Given the description of an element on the screen output the (x, y) to click on. 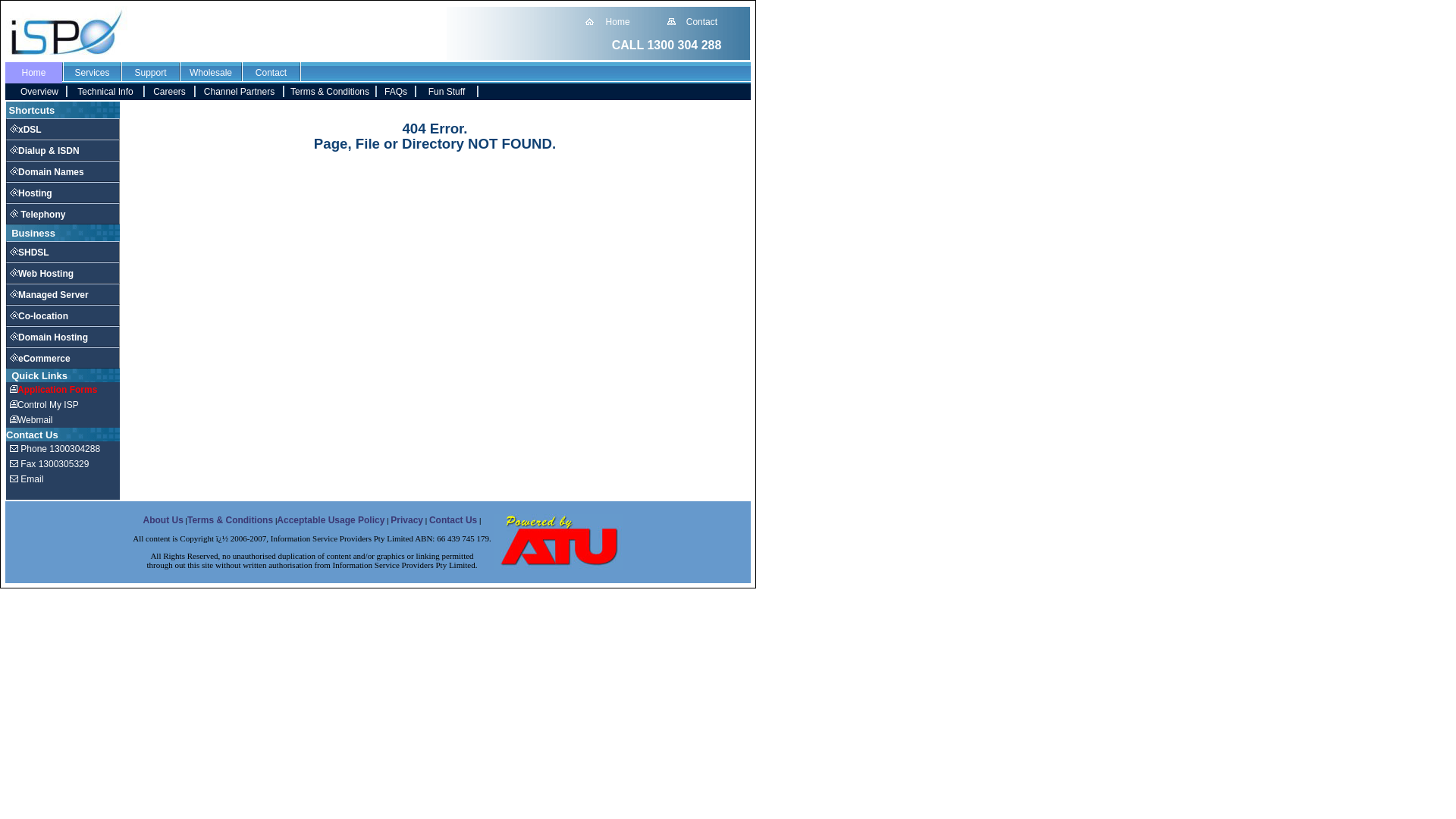
 Phone 1300304288 Element type: text (54, 448)
FAQs Element type: text (395, 91)
Web Hosting Element type: text (41, 273)
Technical Info Element type: text (104, 91)
Home Element type: text (33, 72)
Domain Names Element type: text (46, 171)
Wholesale Element type: text (210, 72)
Control My ISP Element type: text (43, 404)
Domain Hosting Element type: text (48, 337)
Services Element type: text (91, 72)
Contact Element type: text (701, 21)
Channel Partners Element type: text (238, 91)
 Email Element type: text (26, 478)
Privacy Element type: text (406, 519)
Overview Element type: text (39, 91)
Fun Stuff Element type: text (446, 91)
Telephony Element type: text (37, 214)
Home Element type: text (617, 21)
Terms & Conditions Element type: text (329, 91)
Dialup & ISDN Element type: text (44, 150)
eCommerce Element type: text (39, 358)
Acceptable Usage Policy Element type: text (330, 519)
Support Element type: text (150, 72)
 Fax 1300305329 Element type: text (48, 463)
Careers Element type: text (169, 91)
Managed Server Element type: text (48, 294)
Hosting Element type: text (30, 193)
xDSL Element type: text (25, 129)
SHDSL Element type: text (29, 252)
About Us Element type: text (162, 519)
Webmail Element type: text (30, 419)
Application Forms Element type: text (53, 389)
Co-location Element type: text (38, 315)
Contact Us Element type: text (452, 519)
Contact Element type: text (270, 72)
Terms & Conditions Element type: text (230, 519)
